Given the description of an element on the screen output the (x, y) to click on. 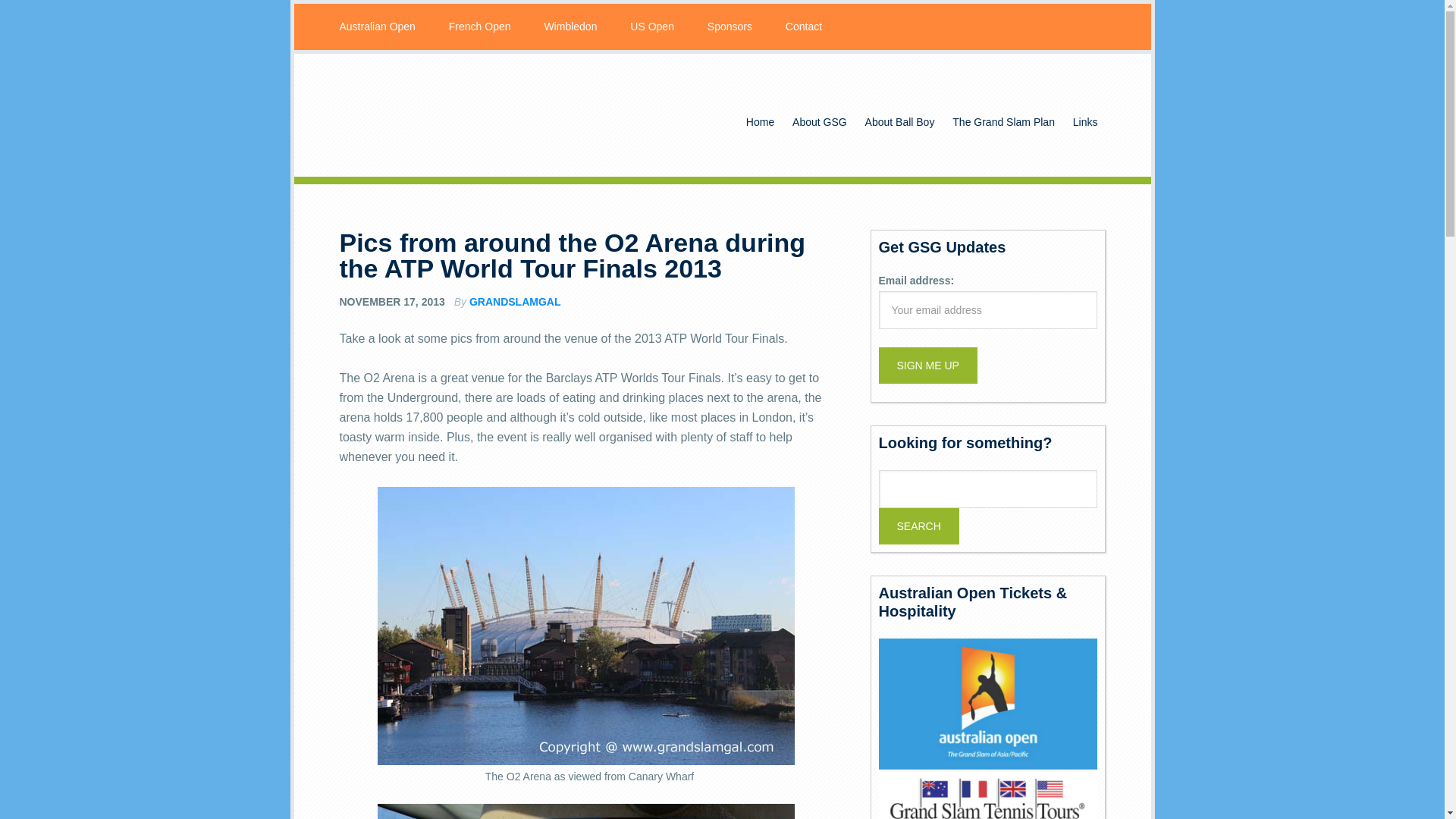
Search (917, 525)
The Grand Slam Plan (1003, 122)
Sign me up (926, 365)
Wimbledon (569, 26)
grandslamgal.com (460, 114)
About GSG (819, 122)
Contact (803, 26)
GRANDSLAMGAL (514, 301)
Sign me up (926, 365)
Home (759, 122)
French Open (479, 26)
Sponsors (730, 26)
About Ball Boy (899, 122)
Australian Open (377, 26)
Search (917, 525)
